Given the description of an element on the screen output the (x, y) to click on. 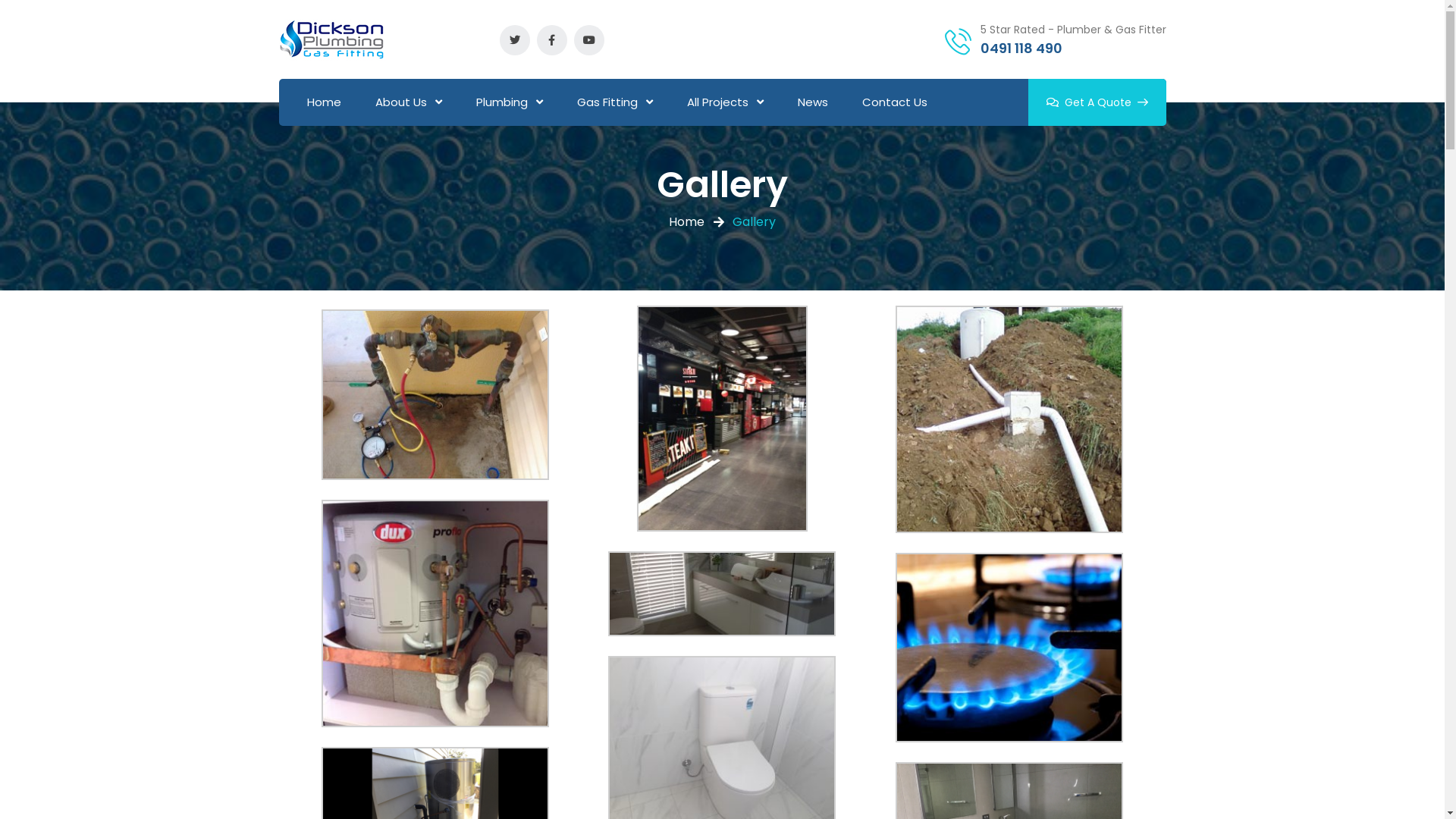
0491 118 490 Element type: text (1020, 46)
All Projects Element type: text (725, 102)
About Us Element type: text (408, 102)
News Element type: text (812, 102)
Gas Fitting Element type: text (614, 102)
Get A Quote Element type: text (1097, 101)
Home Element type: text (686, 222)
Home Element type: text (324, 102)
Contact Us Element type: text (894, 102)
Plumbing Element type: text (509, 102)
